Given the description of an element on the screen output the (x, y) to click on. 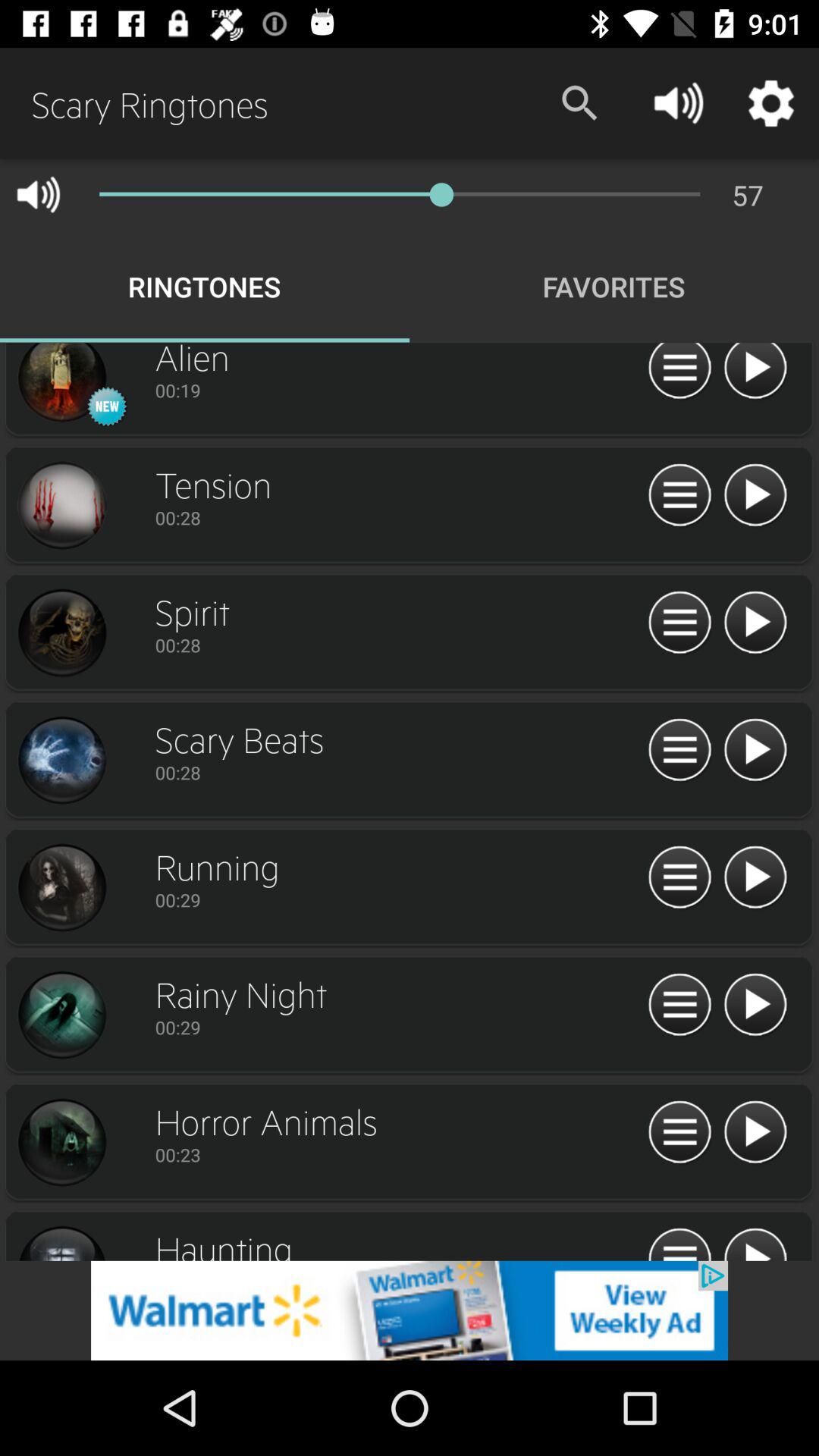
access advertisement (409, 1310)
